Given the description of an element on the screen output the (x, y) to click on. 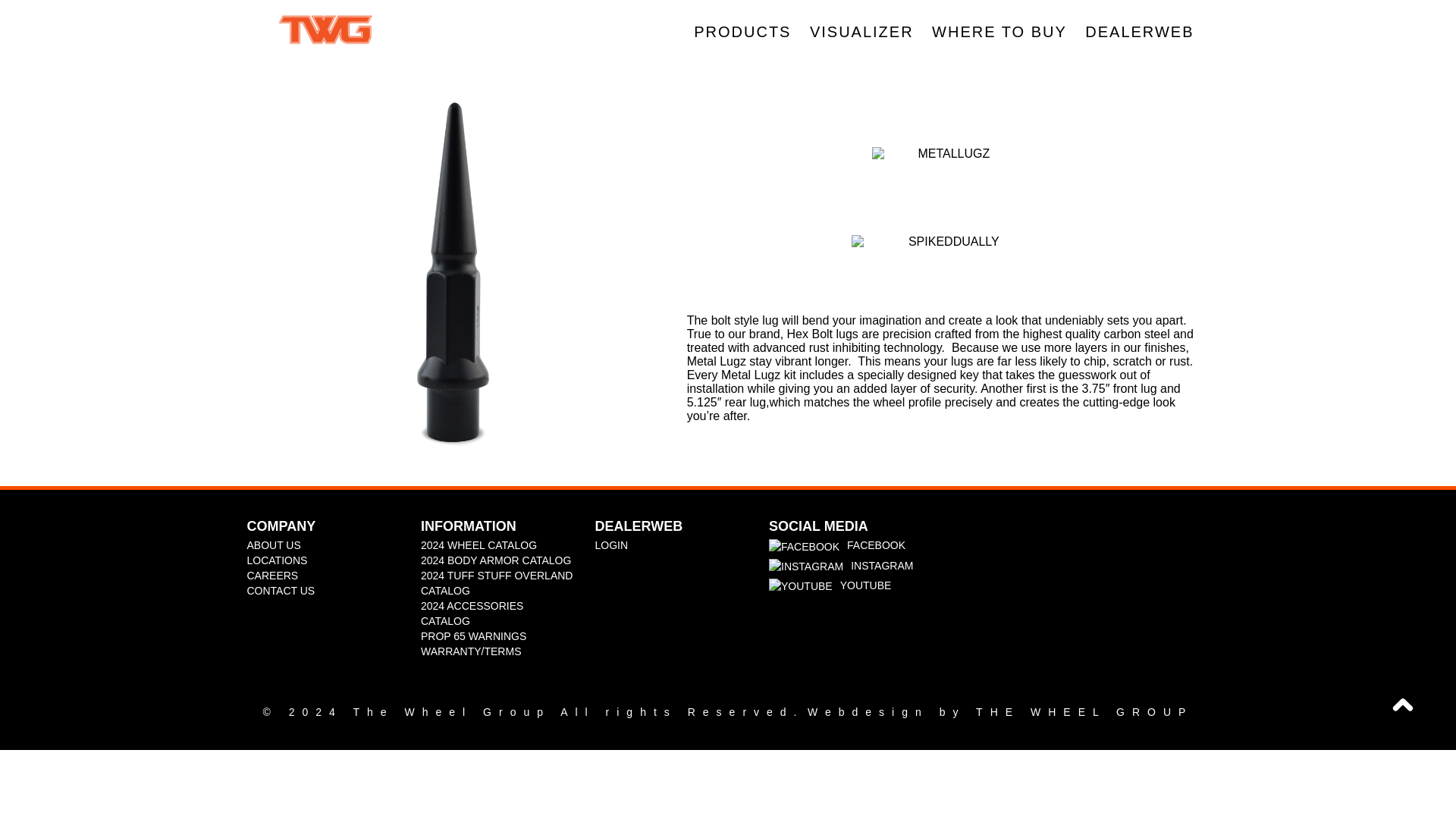
WHERE TO BUY (999, 31)
YOUTUBE (800, 585)
LOGIN (610, 544)
CONTACT US (281, 590)
PRODUCTS (742, 50)
CAREERS (272, 575)
LOCATIONS (277, 560)
2024 ACCESSORIES CATALOG (471, 613)
2024 WHEEL CATALOG (478, 544)
VISUALIZER (861, 31)
PROP 65 WARNINGS (472, 635)
FACEBOOK (804, 546)
2024 TUFF STUFF OVERLAND CATALOG (496, 583)
DEALERWEB (1138, 31)
INSTAGRAM (805, 566)
